Given the description of an element on the screen output the (x, y) to click on. 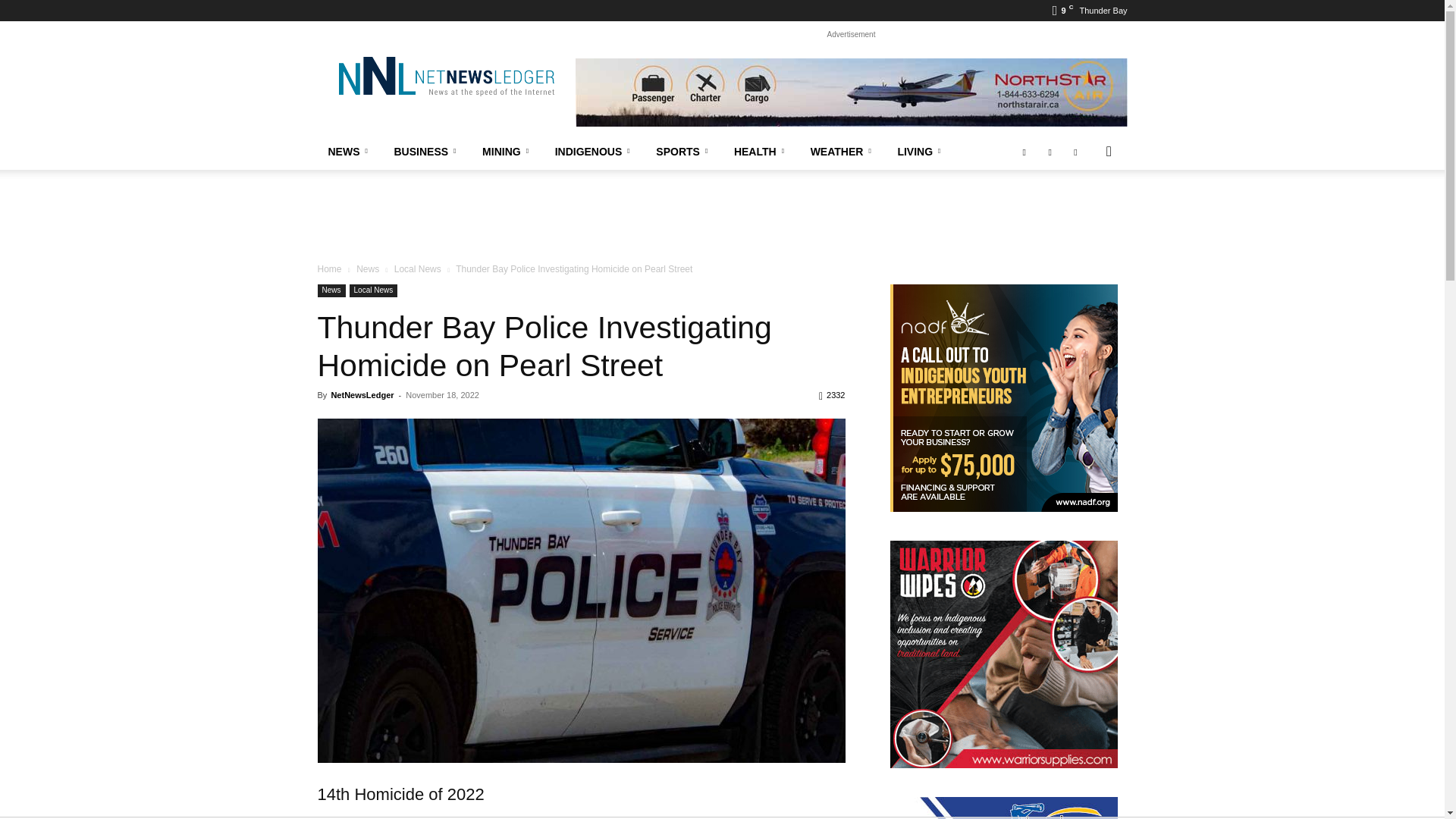
North Star Air (850, 92)
NetNewsLedger (445, 76)
View all posts in Local News (417, 268)
View all posts in News (367, 268)
